Given the description of an element on the screen output the (x, y) to click on. 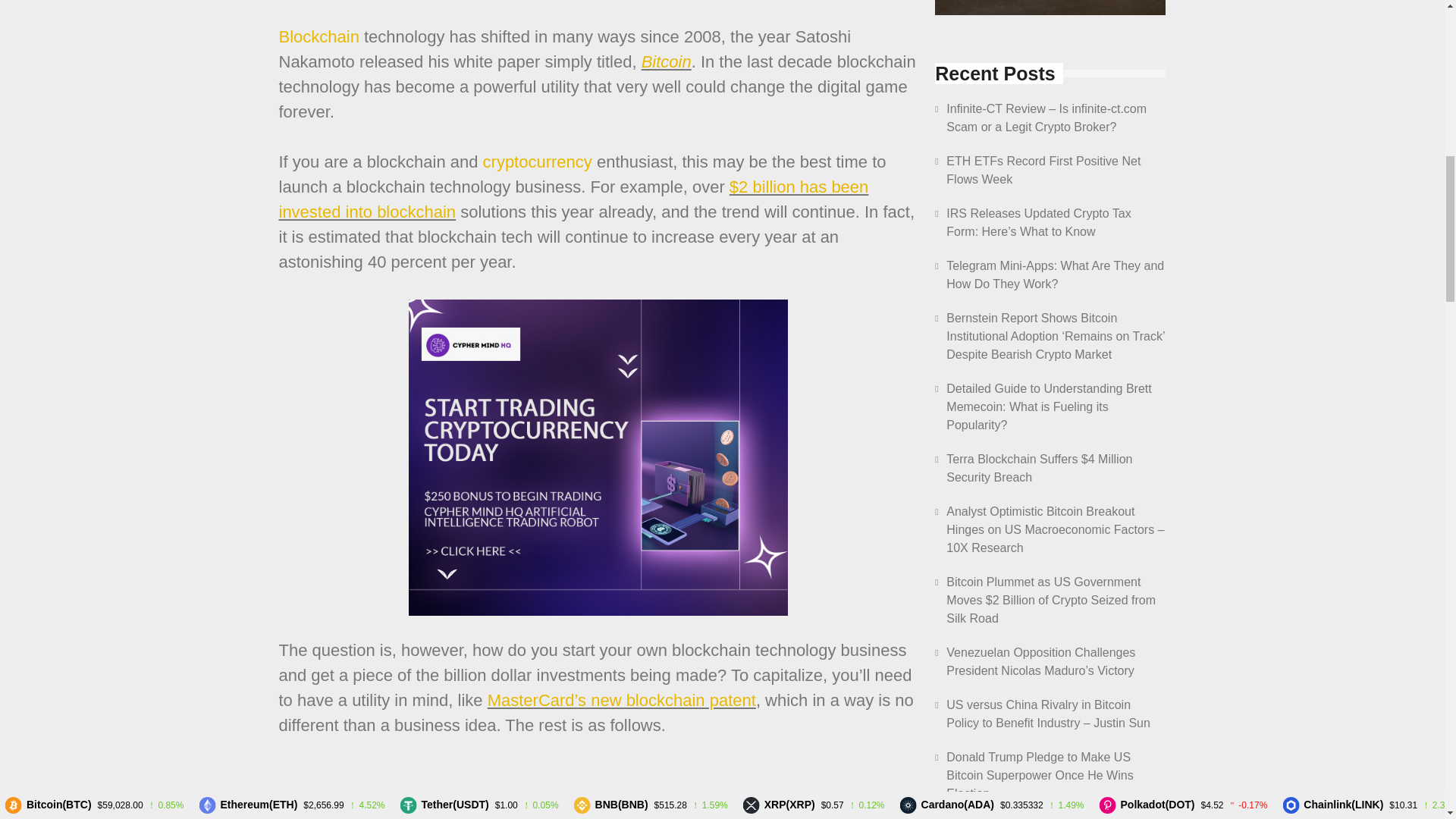
crypto (537, 161)
Blockchain (319, 36)
Bitcoin (666, 61)
blockchain (319, 36)
Trading Robot Review (1050, 7)
cryptocurrency (537, 161)
